Given the description of an element on the screen output the (x, y) to click on. 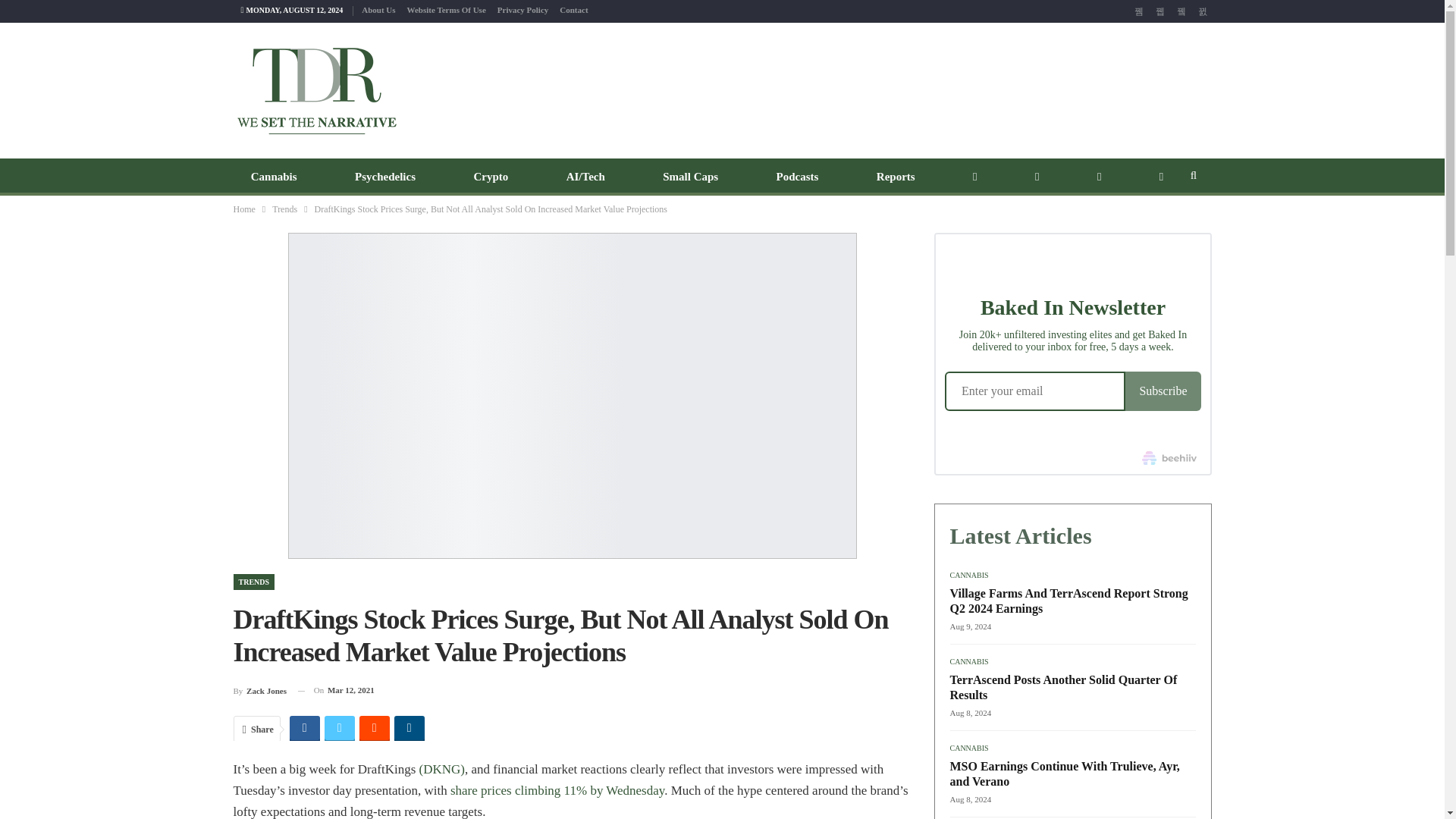
TRENDS (253, 581)
Reports (896, 176)
About Us (377, 9)
Trends (284, 208)
Psychedelics (384, 176)
Cannabis (273, 176)
Small Caps (690, 176)
By Zack Jones (259, 690)
Podcasts (796, 176)
Home (244, 208)
